Given the description of an element on the screen output the (x, y) to click on. 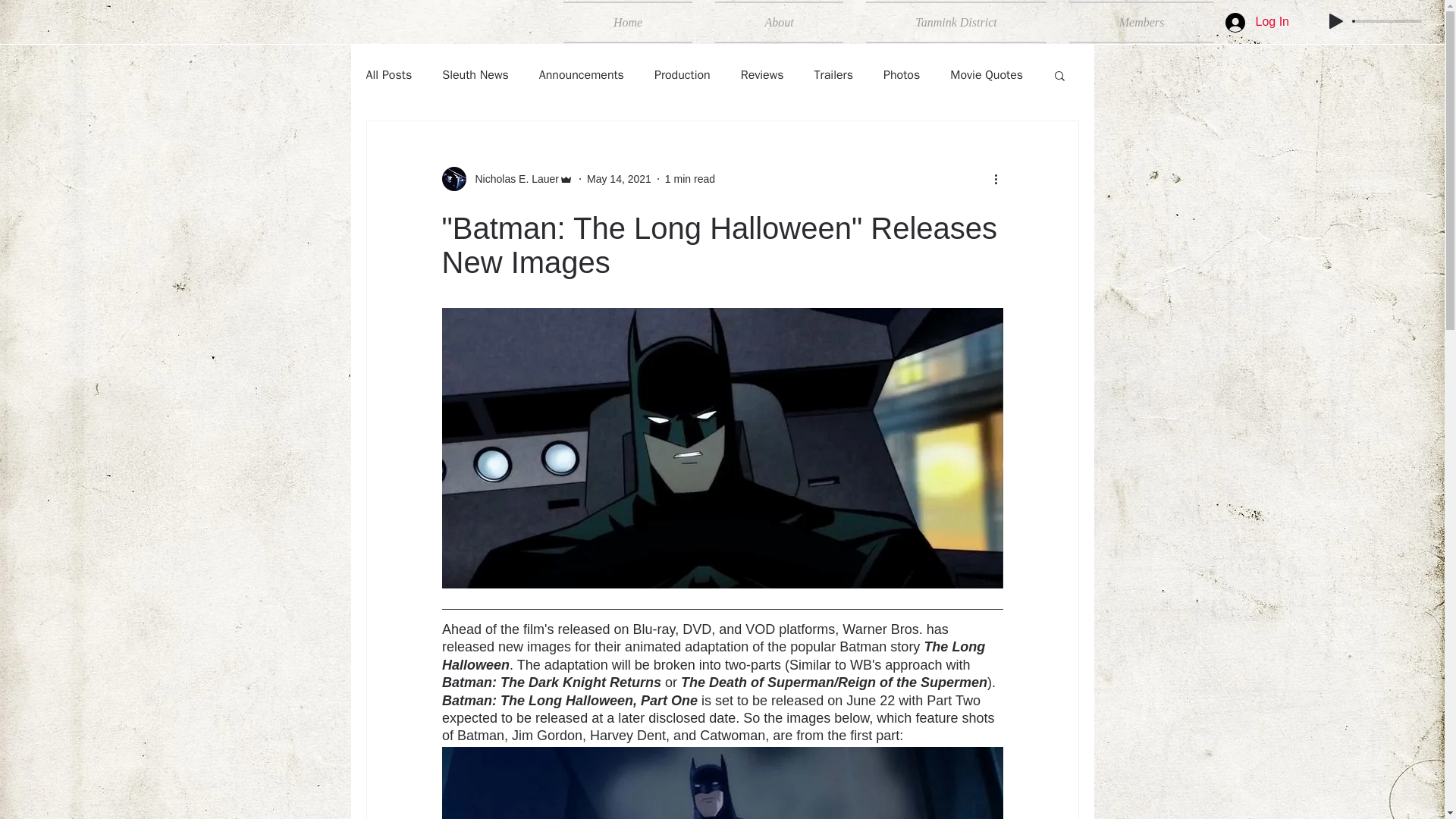
Home (633, 22)
Movie Quotes (986, 74)
0 (1388, 20)
Log In (1257, 21)
1 min read (689, 178)
Nicholas E. Lauer (512, 179)
Nicholas E. Lauer (507, 178)
Announcements (581, 74)
About (778, 22)
Production (681, 74)
Sleuth News (475, 74)
Trailers (833, 74)
All Posts (388, 74)
Reviews (762, 74)
Photos (901, 74)
